Given the description of an element on the screen output the (x, y) to click on. 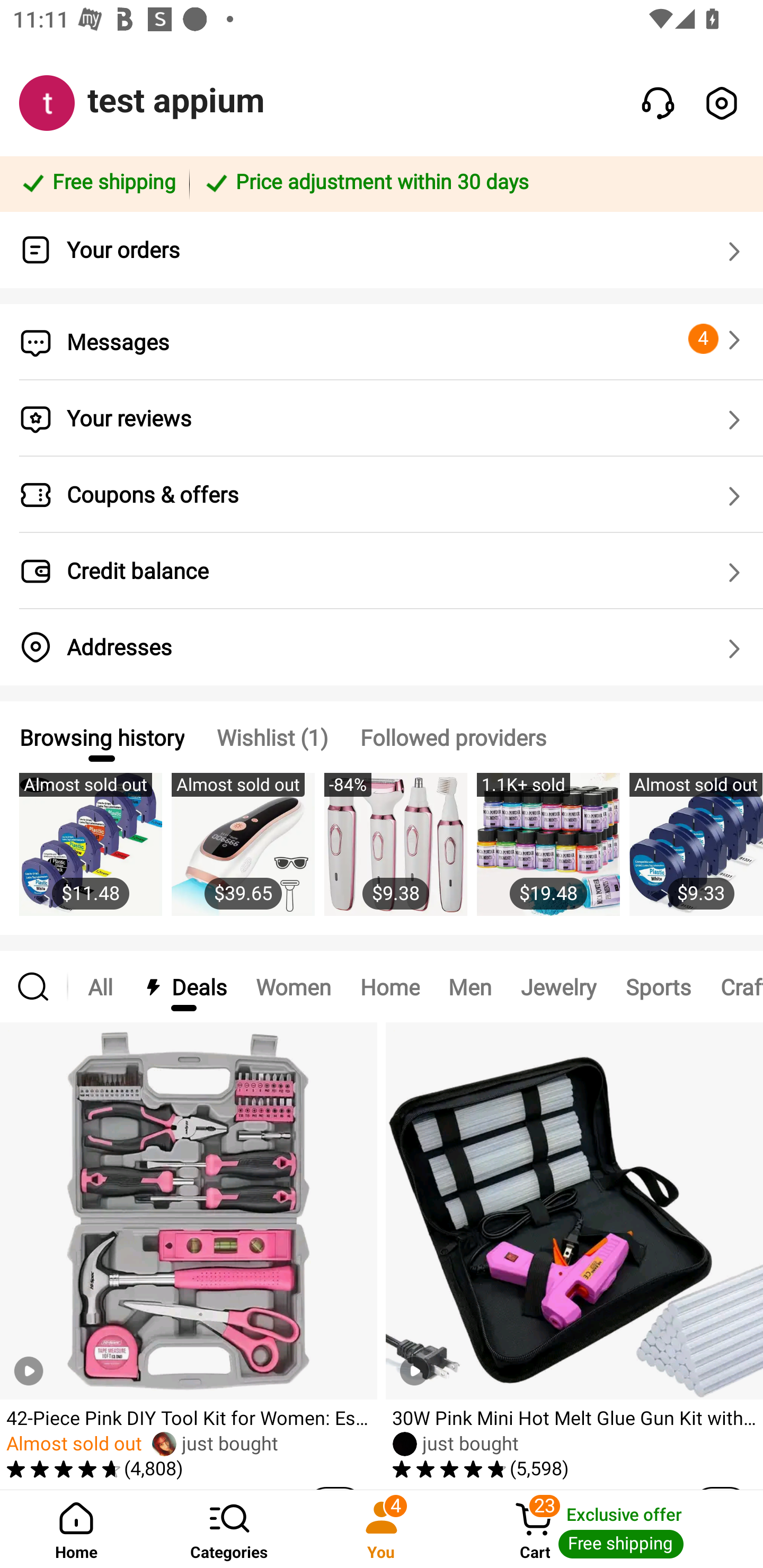
test appium (175, 100)
Free shipping (97, 183)
Price adjustment within 30 days (472, 183)
Your orders (381, 249)
Messages 4 (381, 342)
4 (717, 339)
Your reviews (381, 418)
Coupons & offers (381, 494)
Credit balance (381, 571)
Addresses (381, 647)
Browsing history (101, 736)
Wishlist (1) (271, 736)
Followed providers (453, 736)
Almost sold out $11.48 (90, 853)
Almost sold out $39.65 (242, 853)
-84% $9.38 (395, 853)
1.1K+ sold $19.48 (547, 853)
Almost sold out $9.33 (696, 853)
All (99, 986)
Deals Deals Deals (183, 986)
Women (293, 986)
Home (389, 986)
Men (469, 986)
Jewelry (558, 986)
Sports (658, 986)
Home (76, 1528)
Categories (228, 1528)
You 4 You (381, 1528)
Cart 23 Cart Exclusive offer (610, 1528)
